Given the description of an element on the screen output the (x, y) to click on. 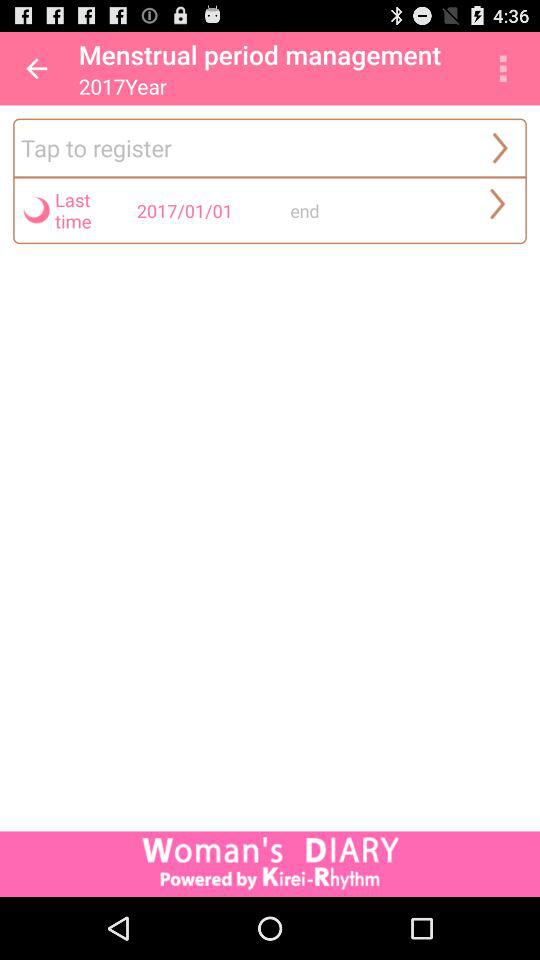
open the item to the left of the menstrual period management (36, 68)
